Given the description of an element on the screen output the (x, y) to click on. 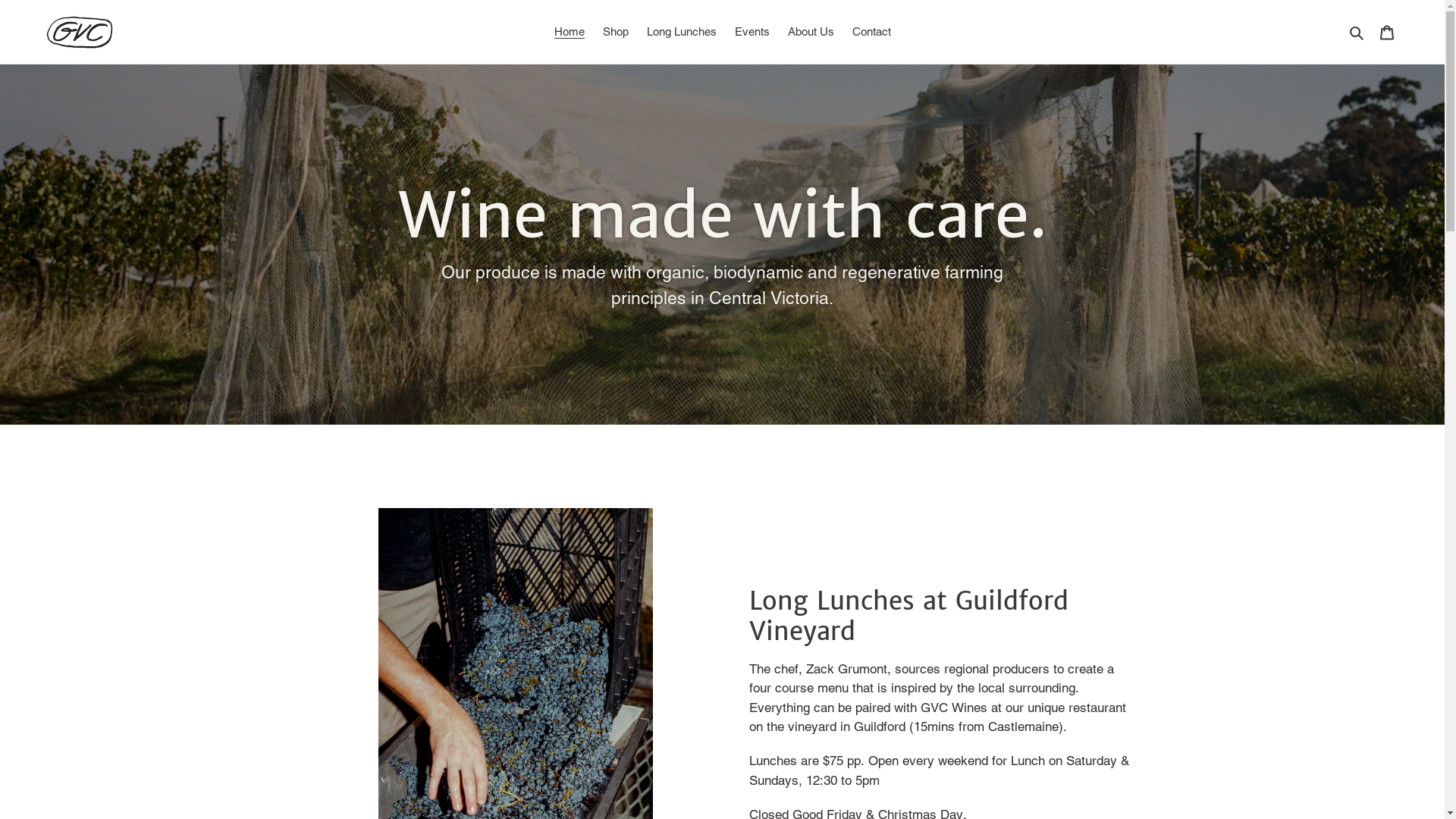
Long Lunches Element type: text (680, 32)
Cart Element type: text (1386, 31)
Home Element type: text (568, 32)
Events Element type: text (751, 32)
Shop Element type: text (614, 32)
Search Element type: text (1357, 31)
About Us Element type: text (809, 32)
Contact Element type: text (871, 32)
